Given the description of an element on the screen output the (x, y) to click on. 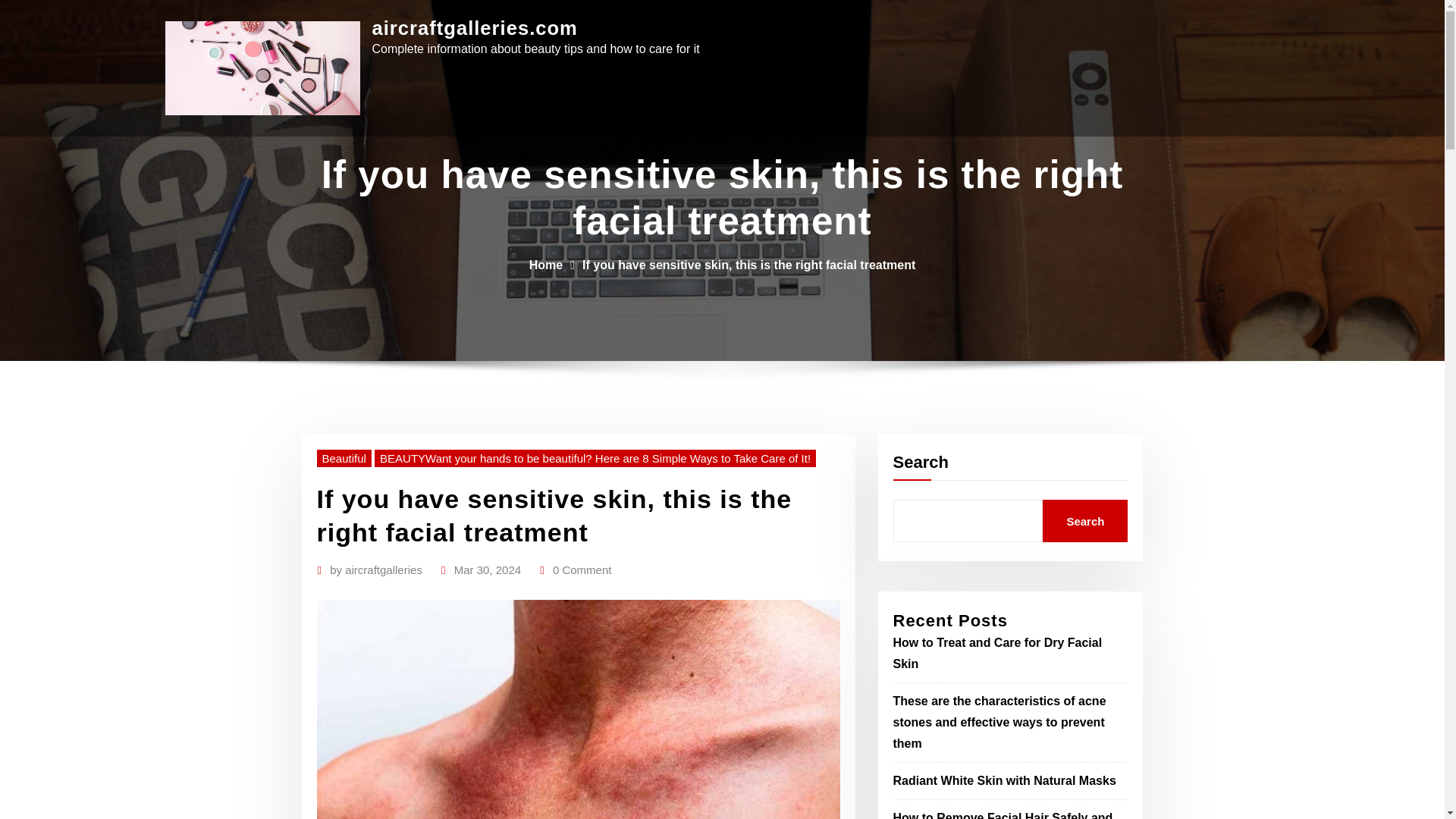
aircraftgalleries.com (473, 27)
Radiant White Skin with Natural Masks (1004, 780)
Home (545, 264)
Beautiful (344, 457)
0 Comment (582, 569)
Mar 30, 2024 (487, 569)
How to Treat and Care for Dry Facial Skin (997, 653)
